Given the description of an element on the screen output the (x, y) to click on. 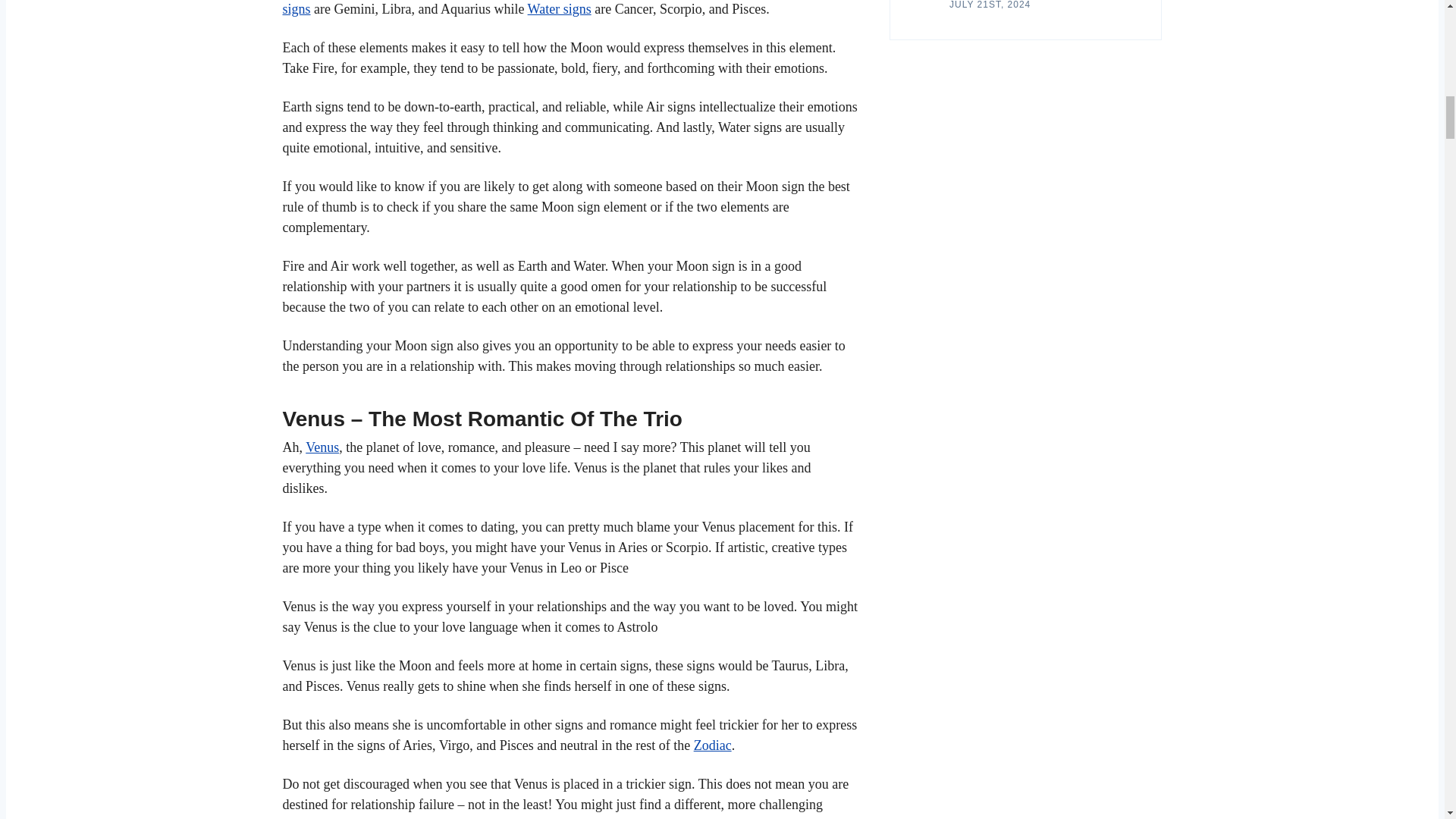
Air signs (561, 8)
Venus (322, 447)
Zodiac (713, 744)
Water signs (559, 8)
